Given the description of an element on the screen output the (x, y) to click on. 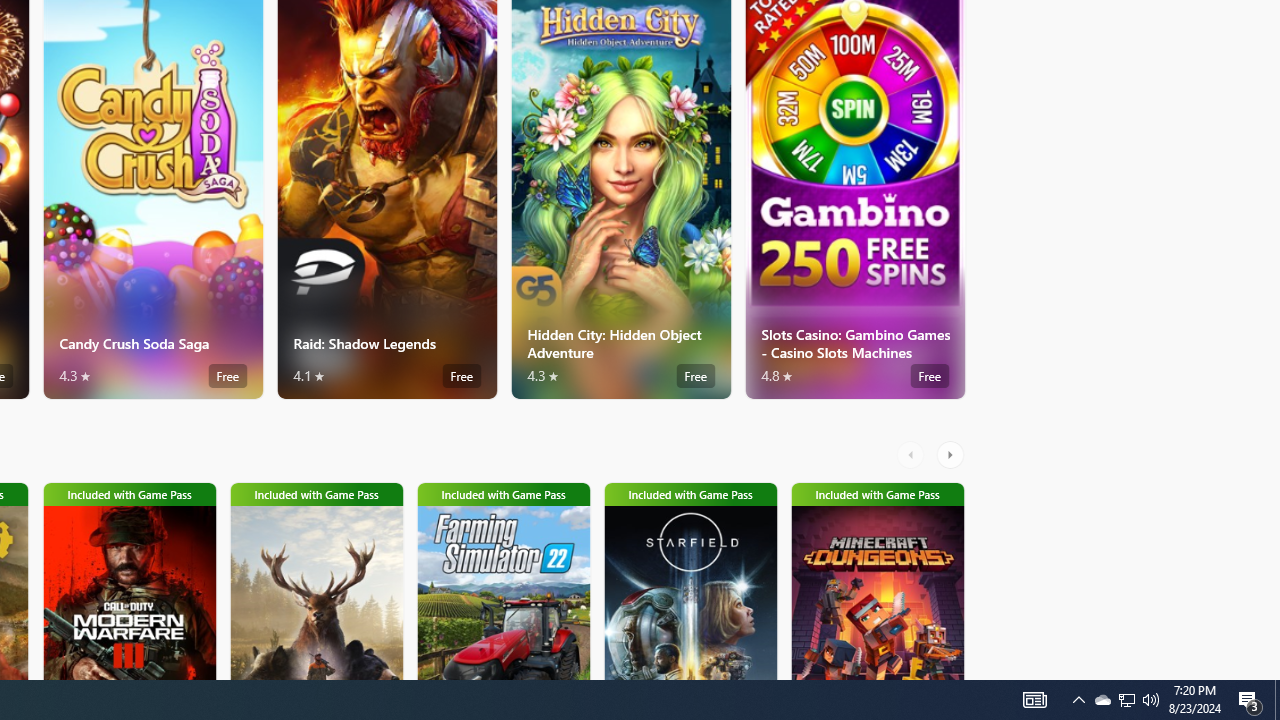
AutomationID: RightScrollButton (952, 454)
AutomationID: LeftScrollButton (913, 454)
